Given the description of an element on the screen output the (x, y) to click on. 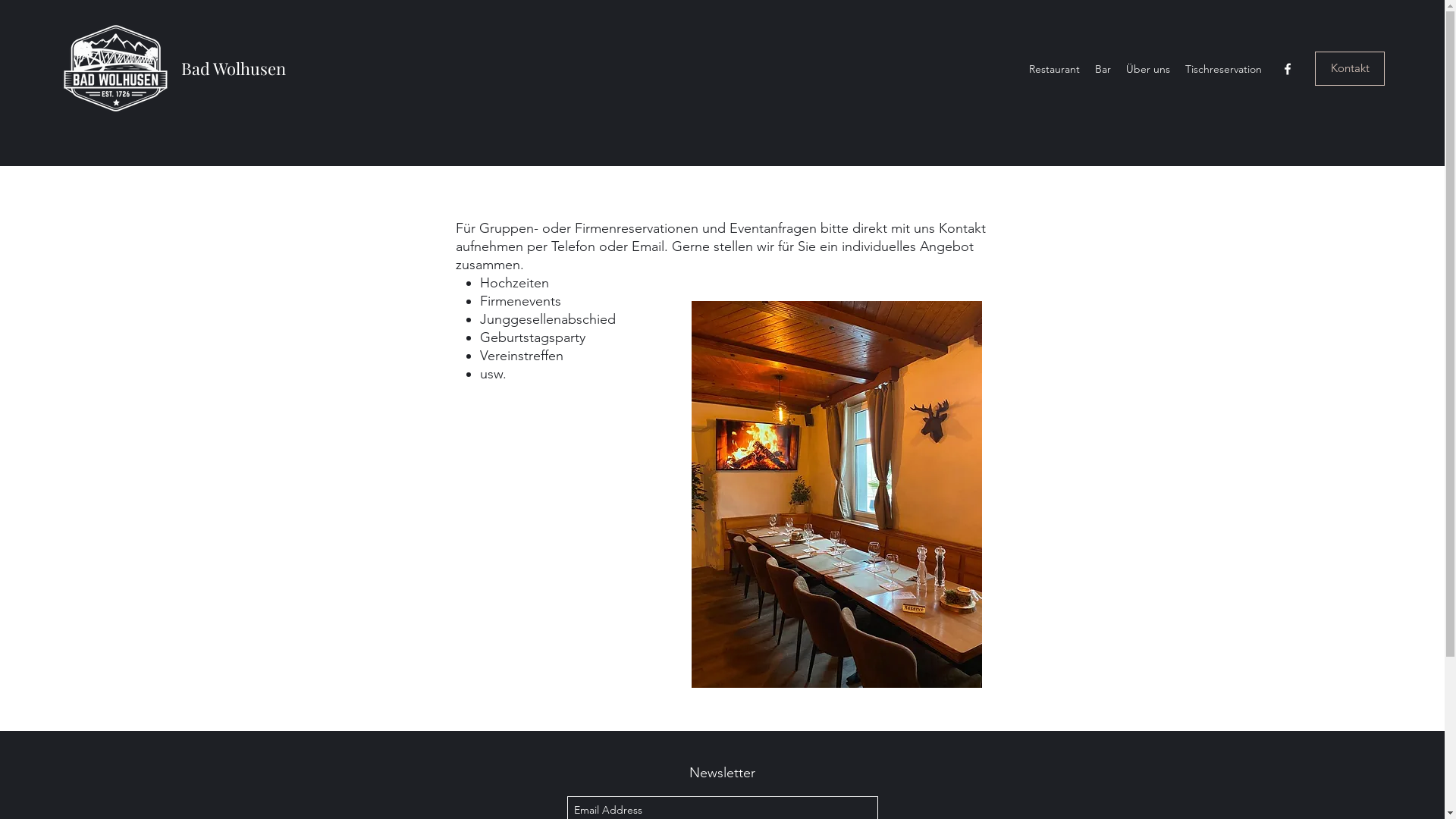
Tischreservation Element type: text (1223, 68)
Kontakt Element type: text (1349, 68)
WhatsApp Image 2023-03-06 at 16.29.27.jpeg Element type: hover (836, 494)
Bar Element type: text (1102, 68)
Restaurant Element type: text (1054, 68)
Bad Wolhusen Element type: text (233, 67)
